Given the description of an element on the screen output the (x, y) to click on. 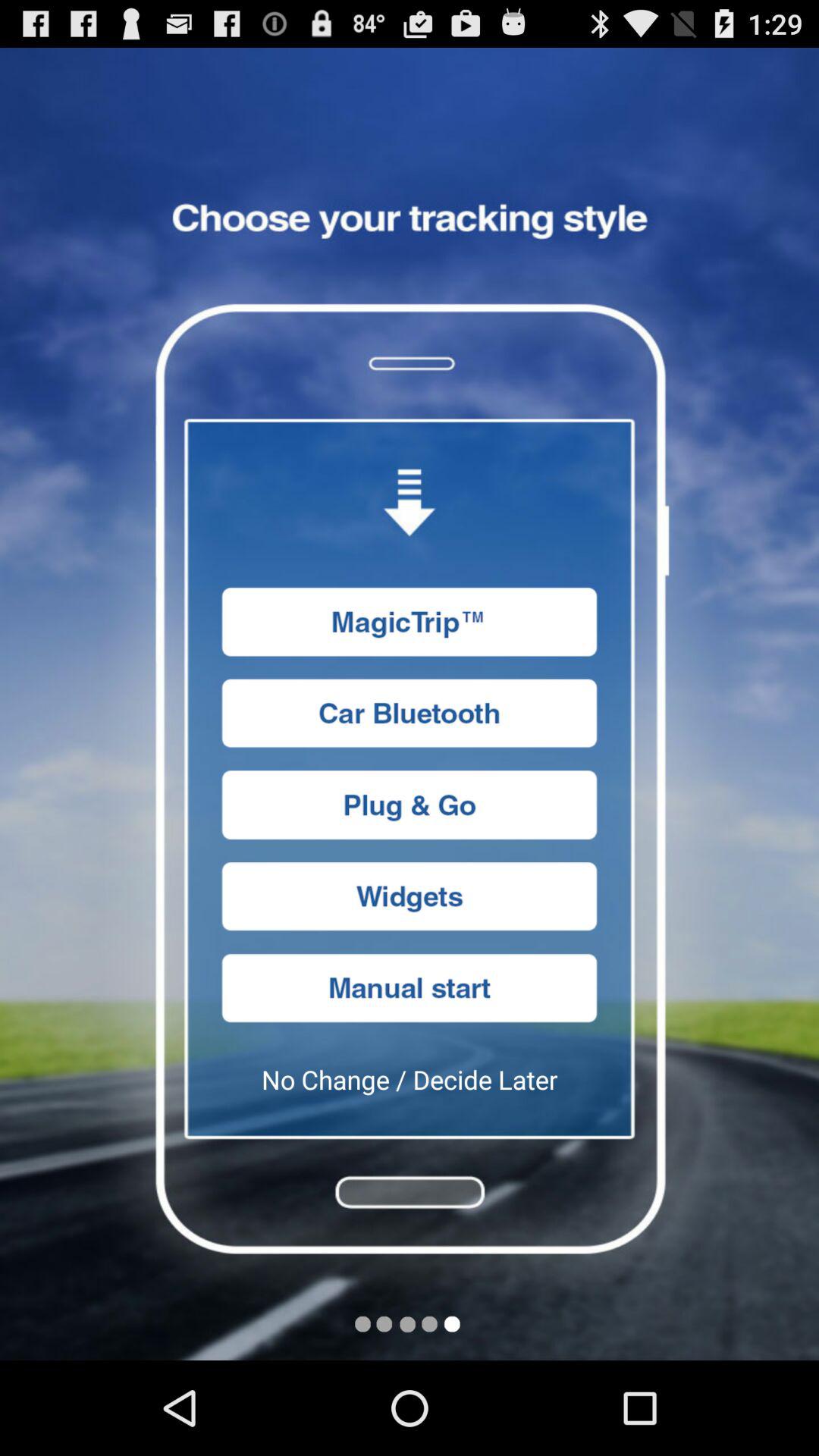
access widgets (409, 896)
